Given the description of an element on the screen output the (x, y) to click on. 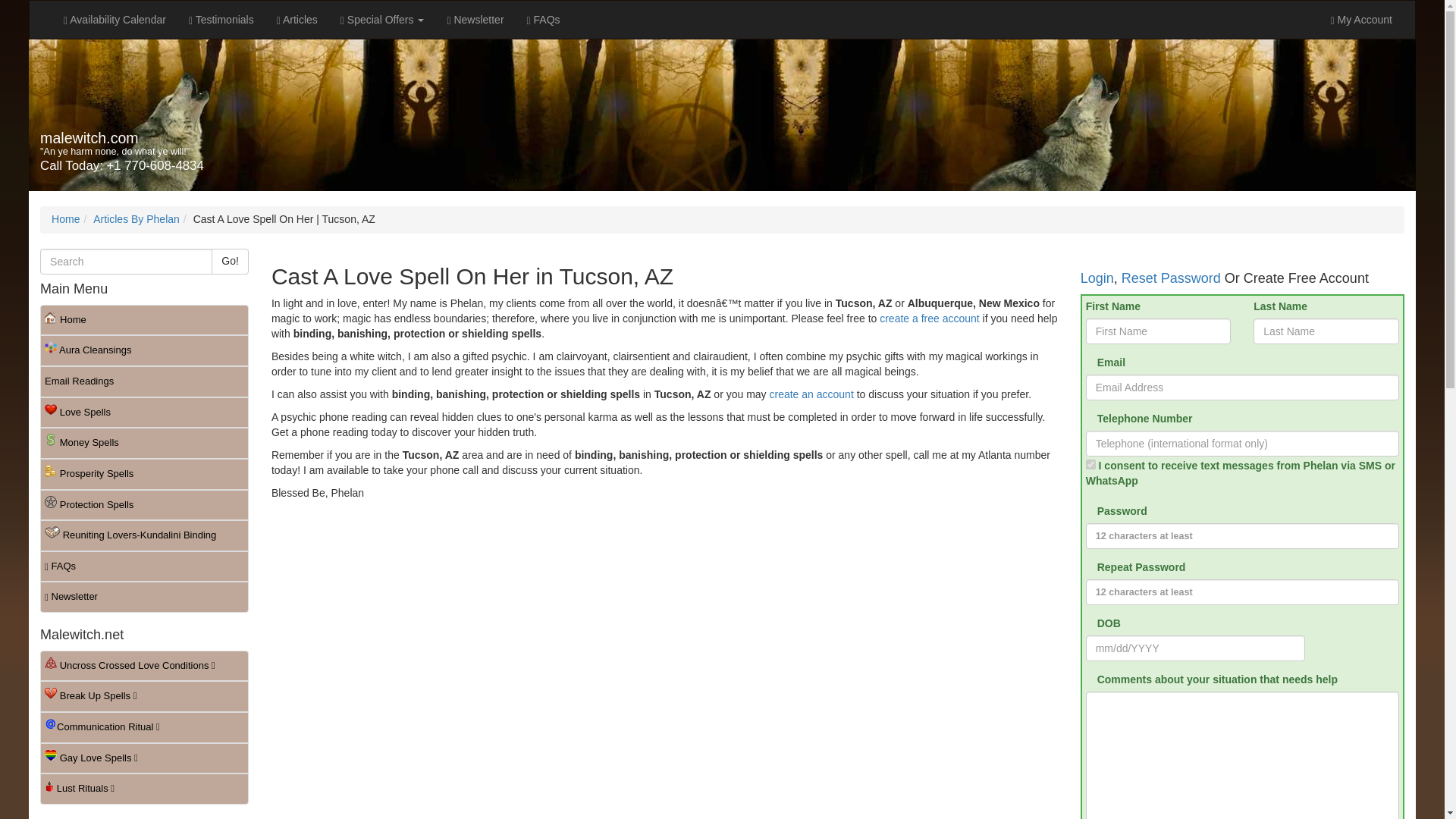
Articles (296, 19)
Uncross Crossed Love Conditions (144, 665)
Special Offers (382, 19)
Break Up Spells (144, 695)
home (65, 218)
Newsletter (475, 19)
1 (1091, 464)
Home (65, 218)
articles by phelan (136, 218)
Communication Ritual (144, 726)
Availability Calendar (114, 19)
malewitch.com (89, 137)
create an account (810, 394)
Reuniting Lovers-Kundalini Binding (144, 535)
FAQs (144, 566)
